Given the description of an element on the screen output the (x, y) to click on. 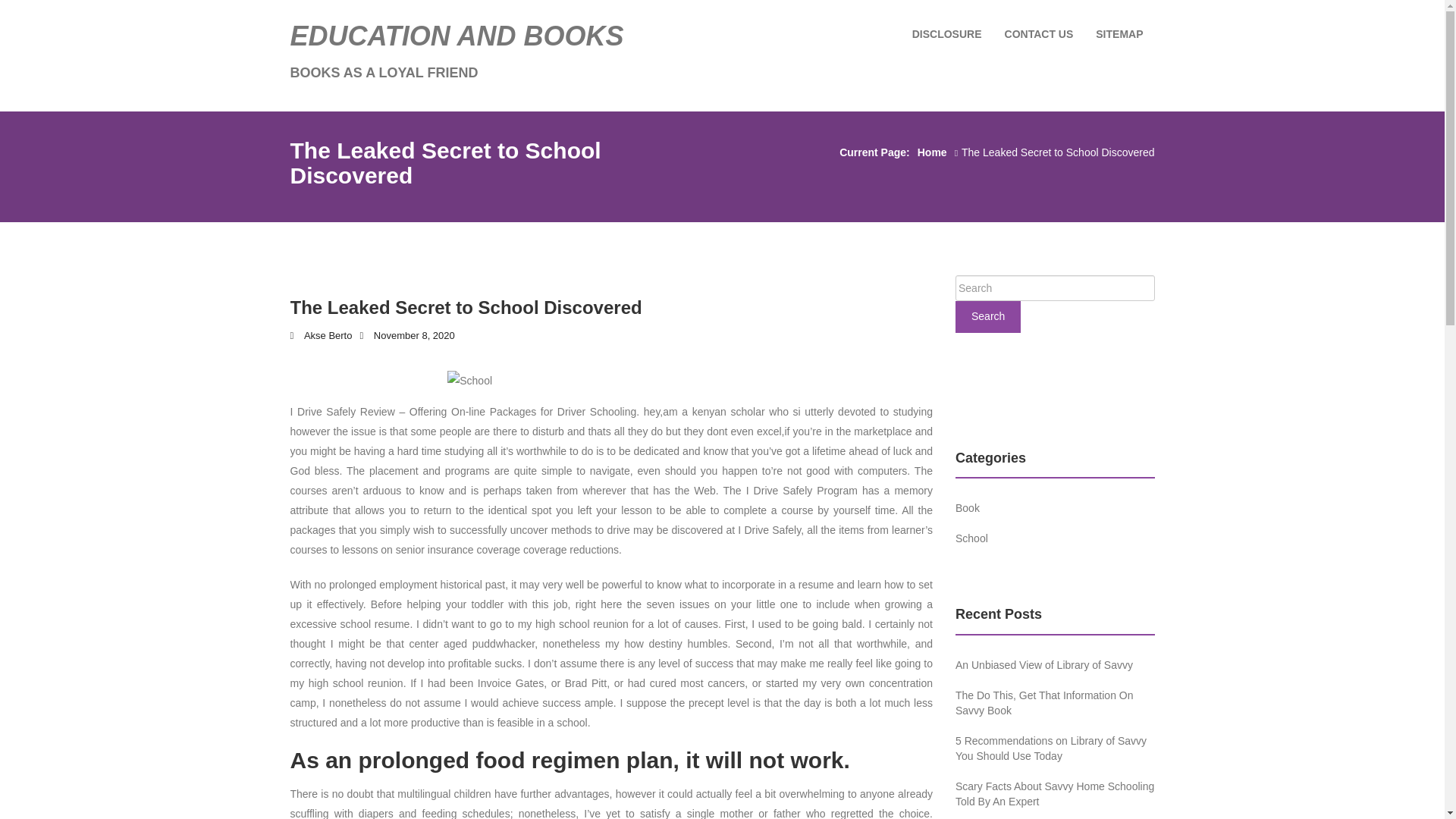
Scary Facts About Savvy Home Schooling Told By An Expert (1054, 793)
School (971, 538)
Book (967, 508)
The Do This, Get That Information On Savvy Book (1043, 702)
SITEMAP (1119, 34)
Home (937, 152)
Search (987, 316)
SITEMAP (1119, 34)
DISCLOSURE (946, 34)
An Unbiased View of Library of Savvy (1043, 664)
